Given the description of an element on the screen output the (x, y) to click on. 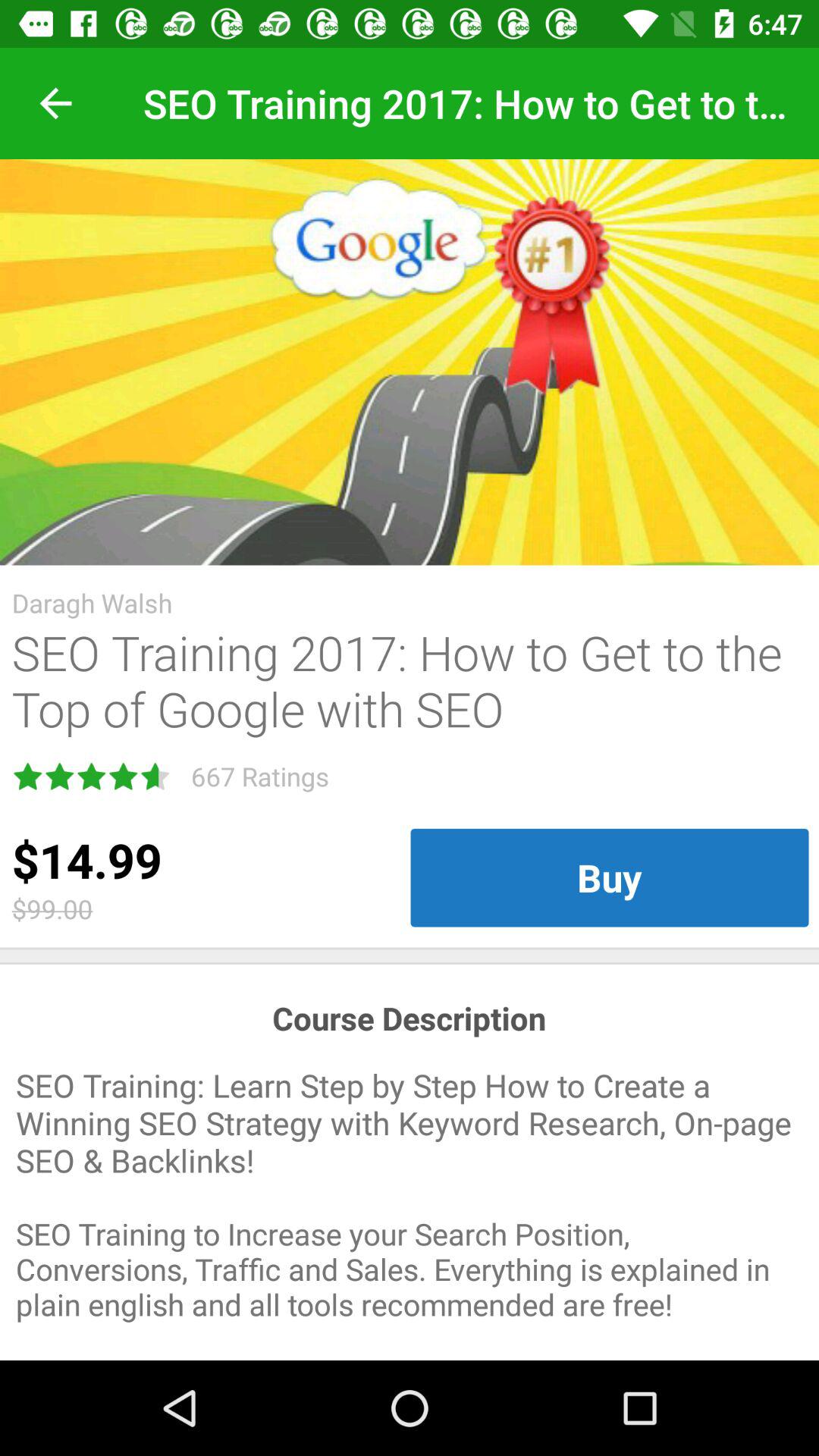
click the buy item (609, 877)
